Given the description of an element on the screen output the (x, y) to click on. 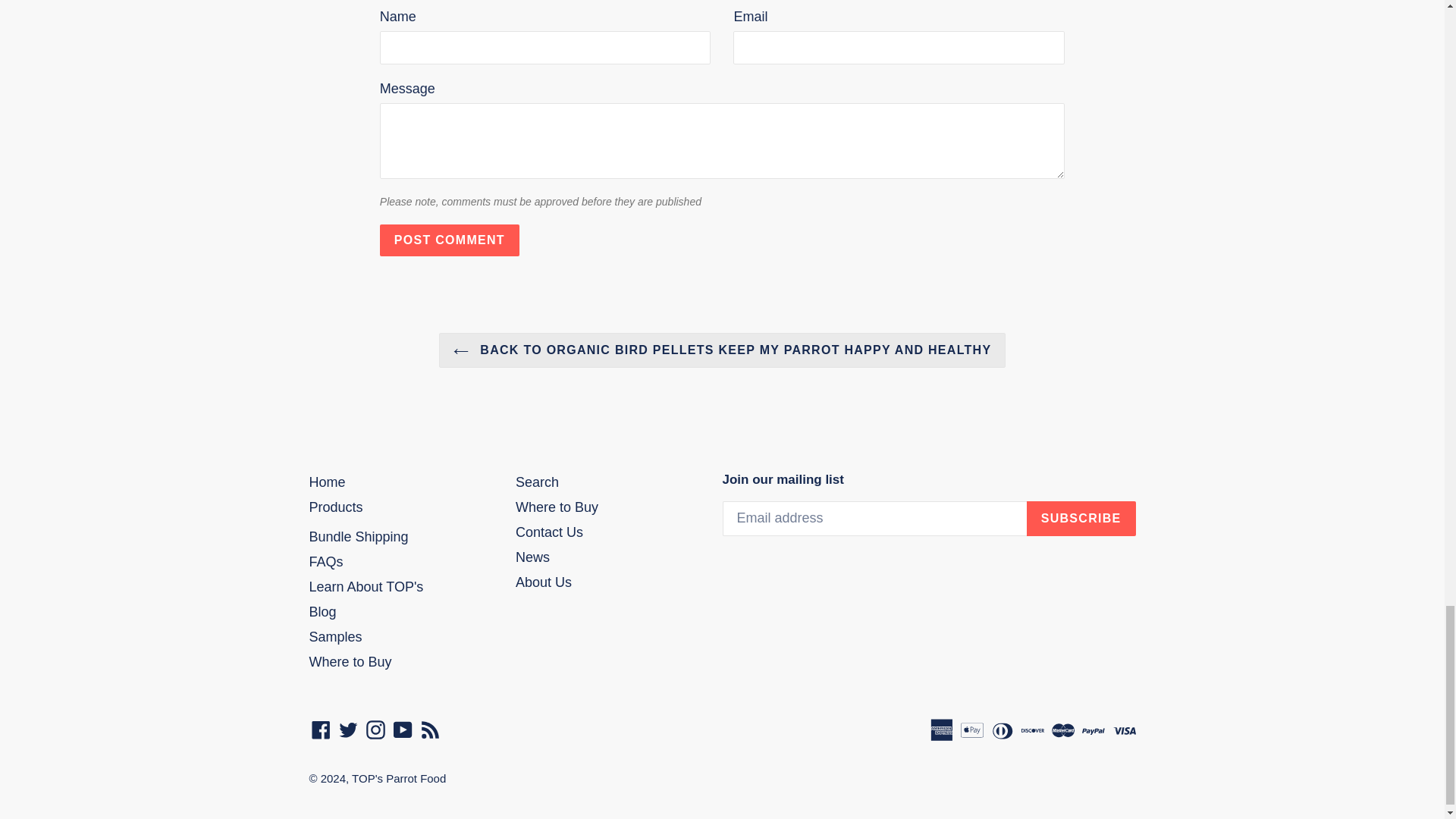
TOP's Parrot Food on Twitter (347, 729)
TOP's Parrot Food on Instagram (375, 729)
Post comment (449, 239)
TOP's Parrot Food on Facebook (320, 729)
TOP's Parrot Food on YouTube (402, 729)
